Given the description of an element on the screen output the (x, y) to click on. 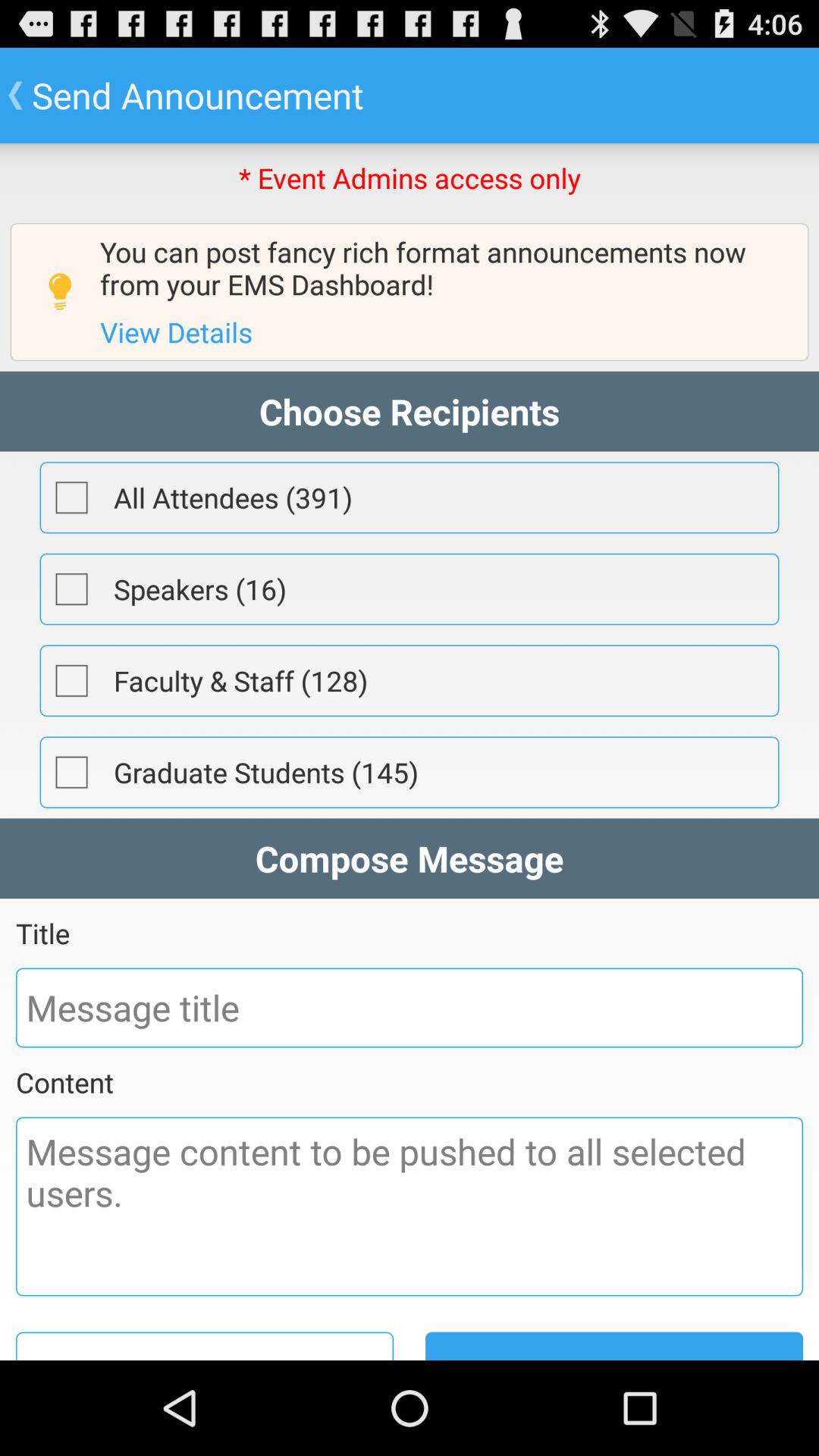
select recipients (71, 680)
